Given the description of an element on the screen output the (x, y) to click on. 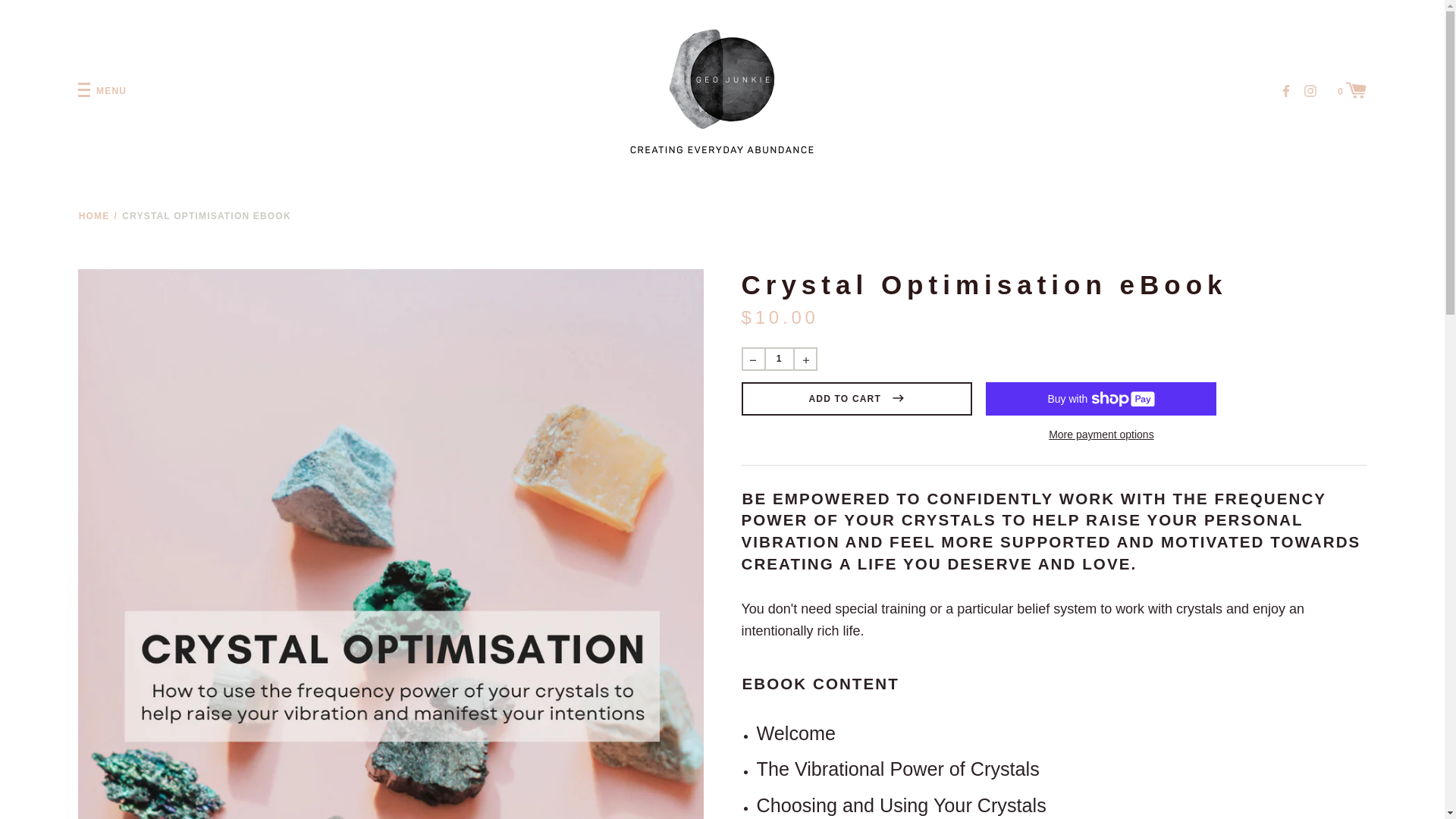
More payment options (1100, 434)
Geo Junkie on Facebook (1285, 89)
Geo Junkie on Instagram (1310, 89)
Back to the frontpage (93, 216)
MENU (101, 91)
HOME (93, 216)
ADD TO CART (856, 398)
0 (1352, 88)
1 (778, 359)
